Given the description of an element on the screen output the (x, y) to click on. 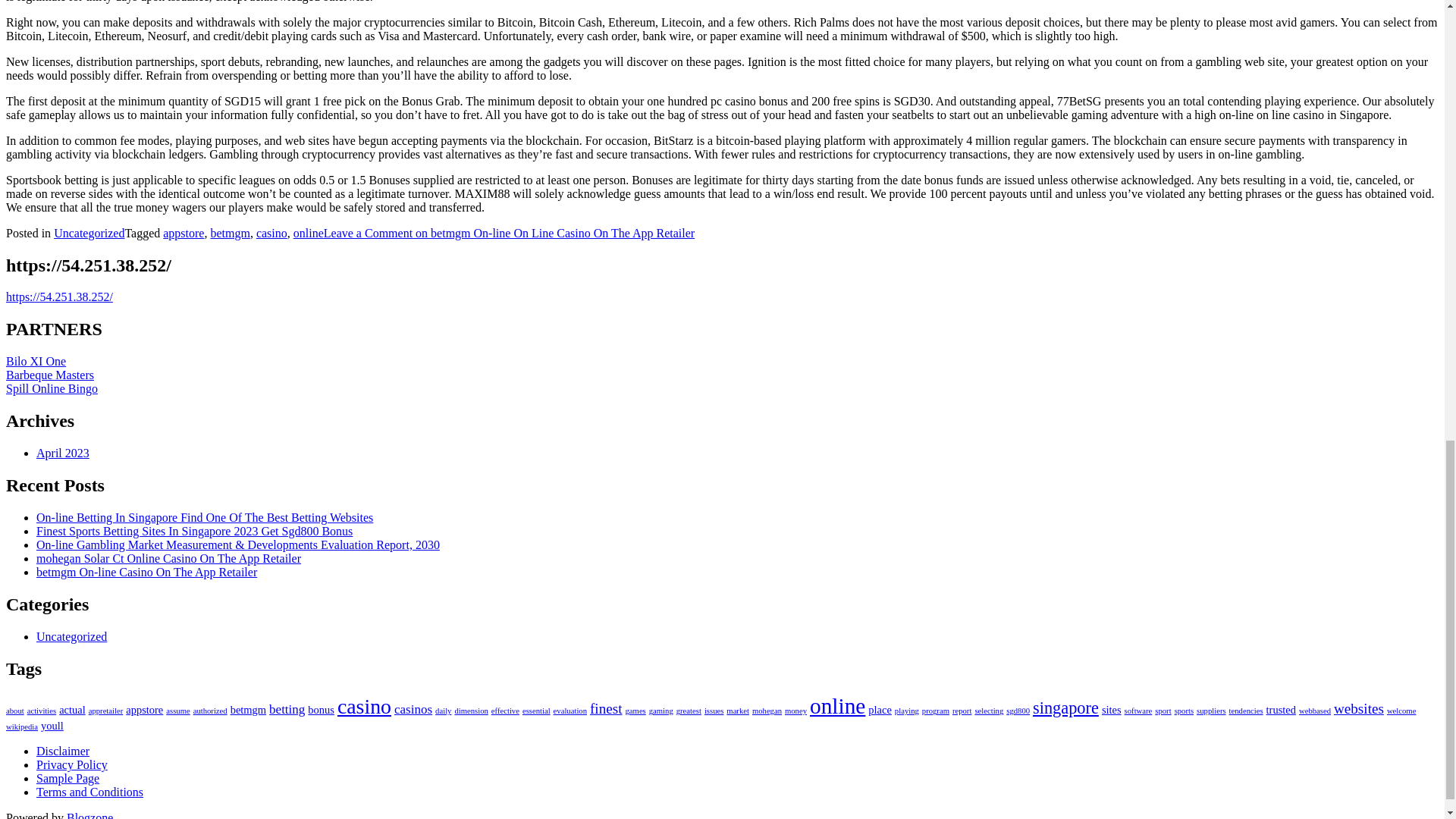
online (308, 232)
Uncategorized (88, 232)
casino (271, 232)
mohegan Solar Ct Online Casino On The App Retailer (168, 558)
betmgm (228, 232)
betmgm On-line Casino On The App Retailer (146, 571)
April 2023 (62, 452)
appstore (183, 232)
Spill Online Bingo (51, 388)
Bilo XI One (35, 360)
Barbeque Masters (49, 374)
